Given the description of an element on the screen output the (x, y) to click on. 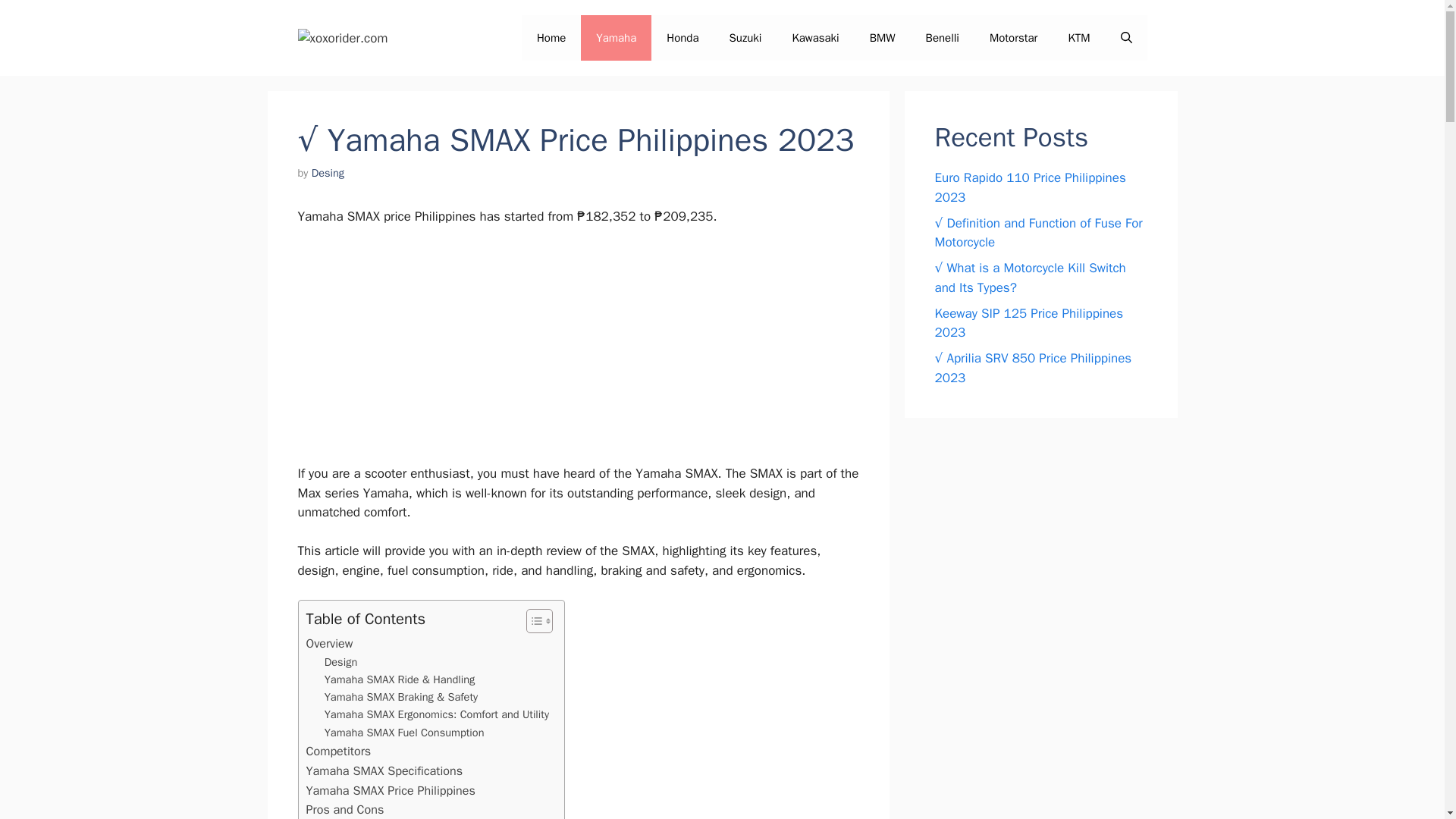
Yamaha SMAX Ergonomics: Comfort and Utility (436, 714)
Home (550, 37)
Yamaha SMAX Specifications (384, 771)
Competitors (338, 751)
Overview (329, 643)
Suzuki (745, 37)
Overview (329, 643)
Yamaha SMAX Fuel Consumption (404, 732)
Yamaha SMAX Price Philippines (390, 790)
Yamaha SMAX Ergonomics: Comfort and Utility (436, 714)
View all posts by Desing (327, 172)
Design (341, 661)
Yamaha SMAX Price Philippines (390, 790)
Yamaha (615, 37)
Design (341, 661)
